Given the description of an element on the screen output the (x, y) to click on. 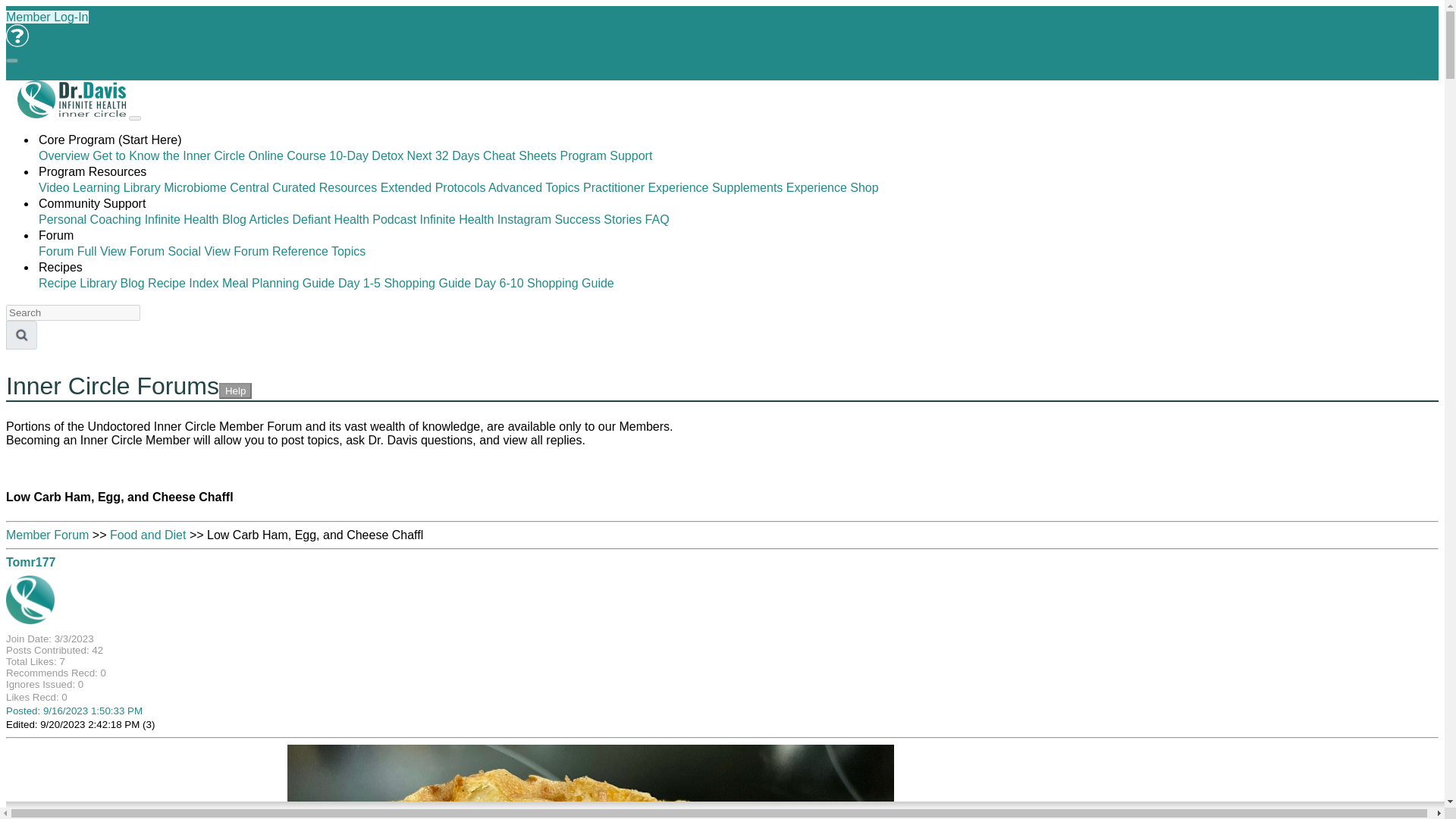
Day 1-5 Shopping Guide (403, 282)
Microbiome Central (216, 187)
Meal Planning Guide (278, 282)
FAQ (17, 35)
Video Learning Library (99, 187)
Recipes (60, 267)
Infinite Health Instagram (485, 219)
Forum Reference Topics (298, 250)
Success Stories (598, 219)
Supplements Experience (779, 187)
Advanced Topics (533, 187)
permalink (73, 710)
Member Log-In (46, 16)
Program Support (605, 155)
Cheat Sheets (519, 155)
